Given the description of an element on the screen output the (x, y) to click on. 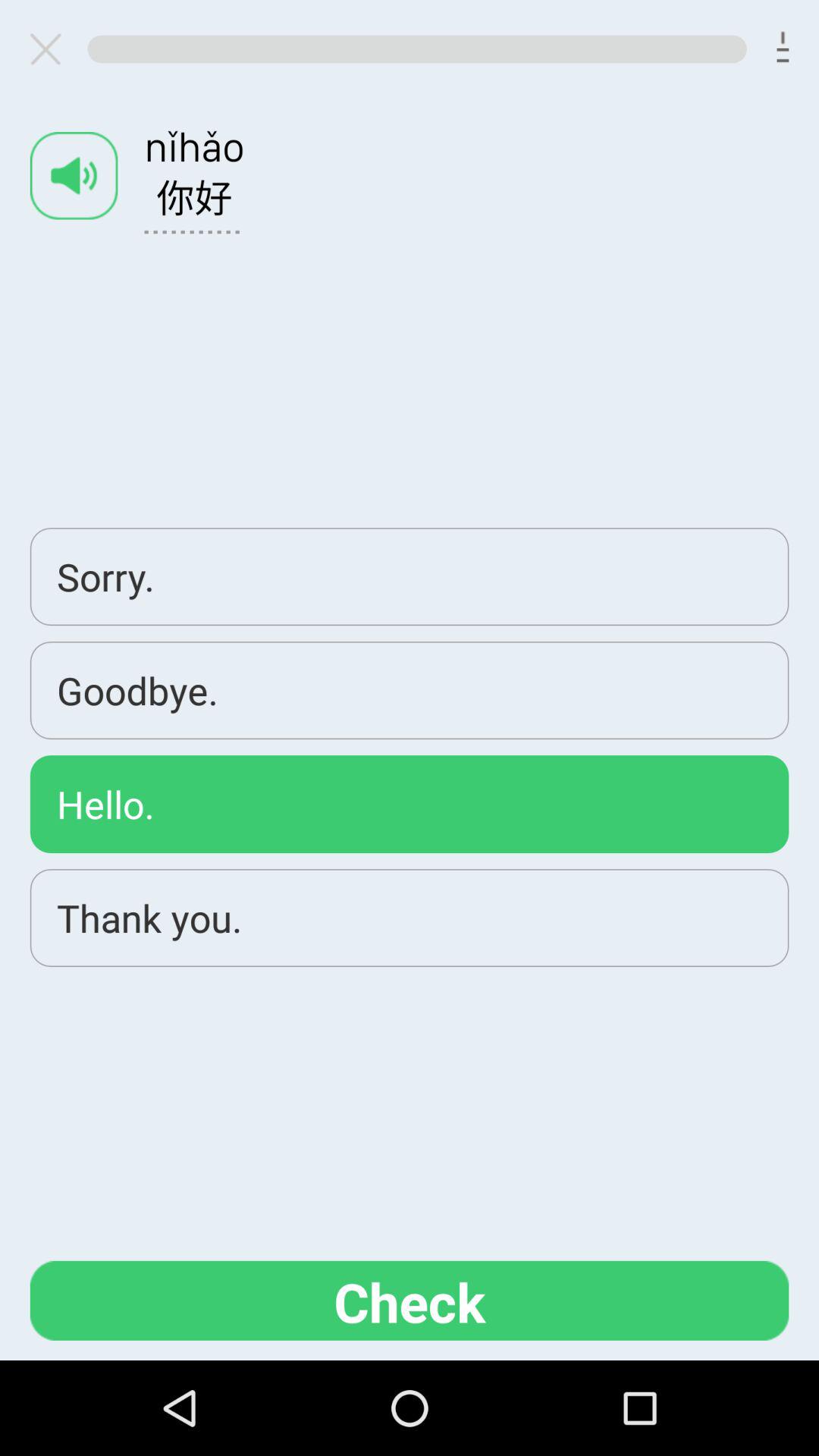
speak (73, 175)
